Given the description of an element on the screen output the (x, y) to click on. 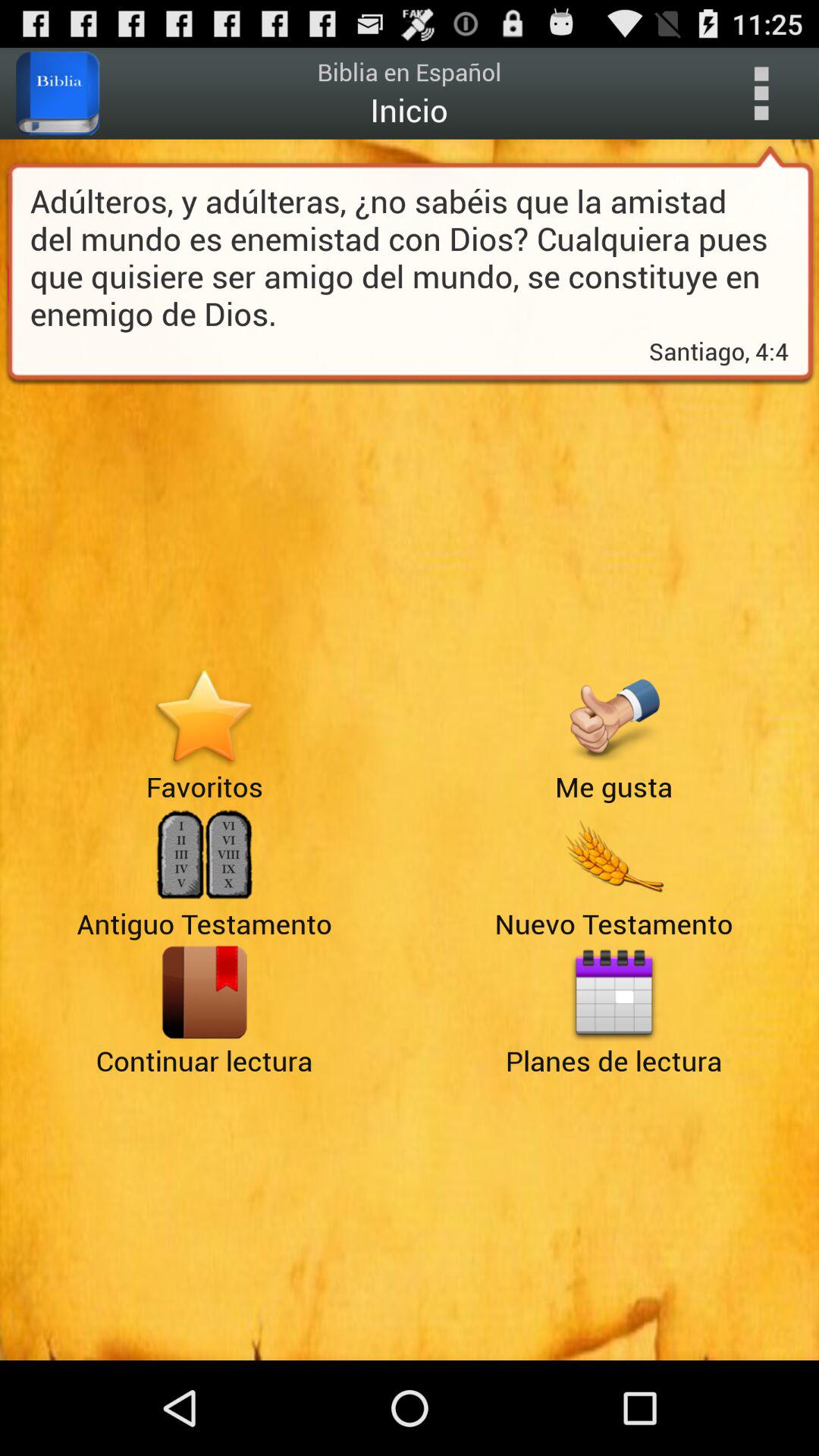
click on thumb icon (613, 718)
